Given the description of an element on the screen output the (x, y) to click on. 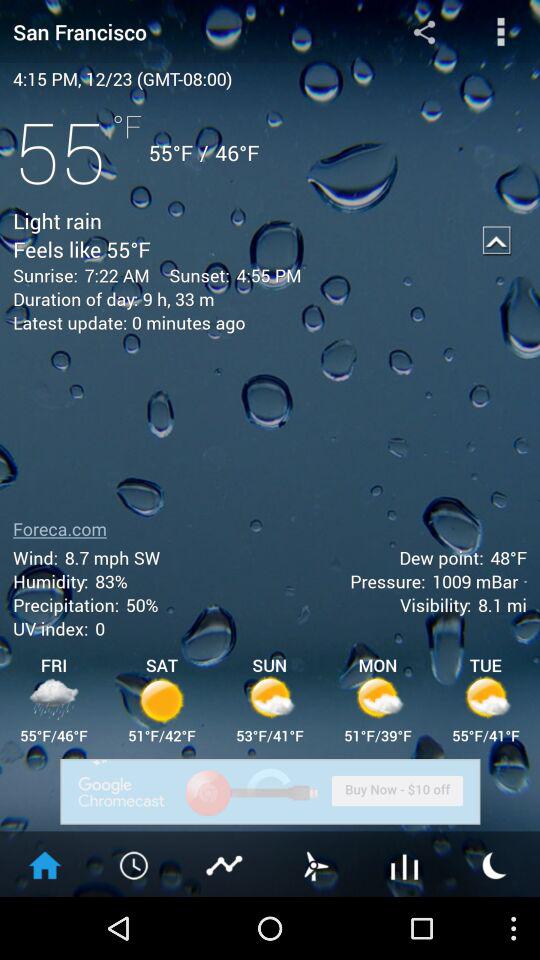
collapse detailed info (497, 240)
